Given the description of an element on the screen output the (x, y) to click on. 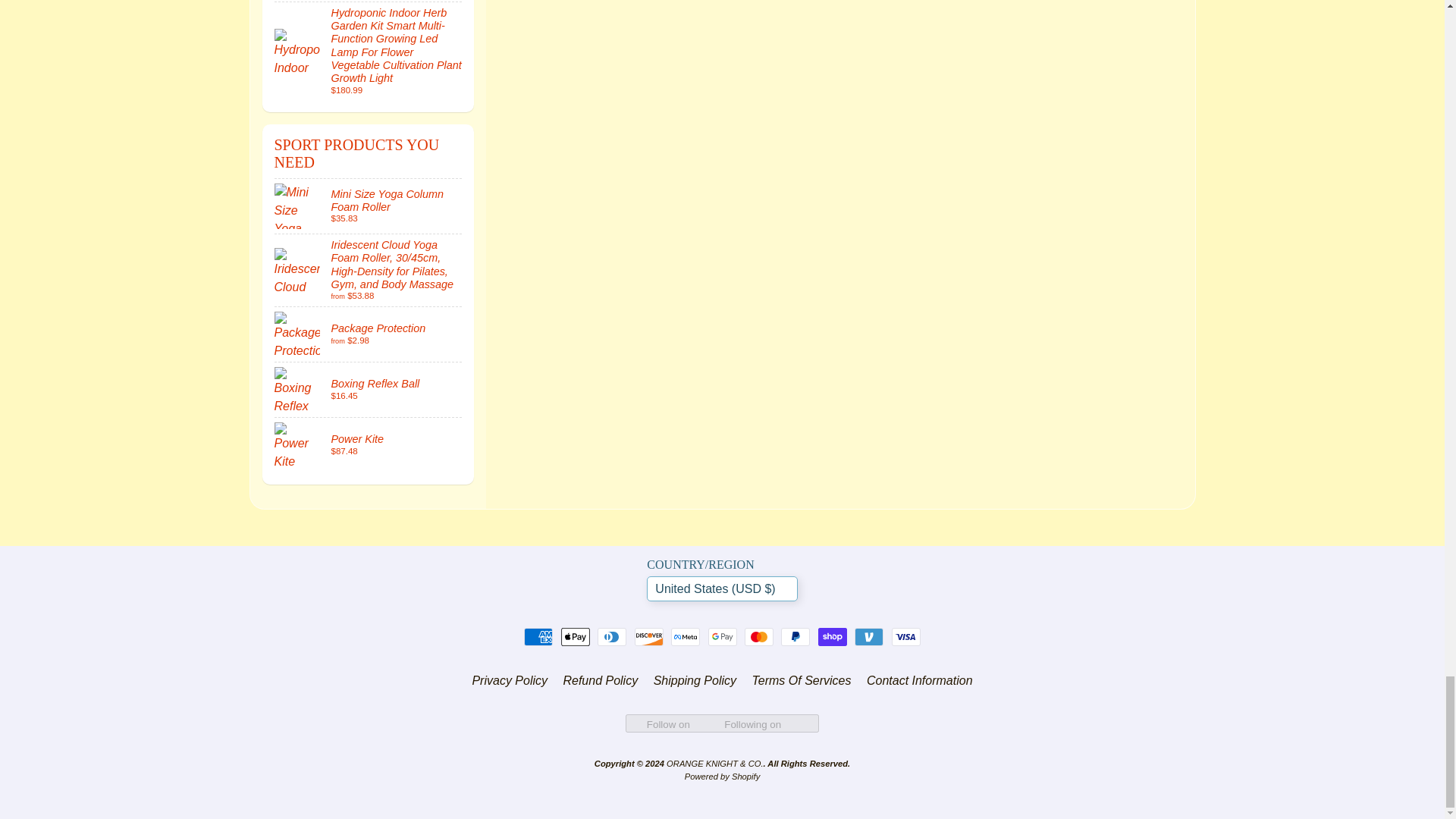
American Express (538, 637)
Meta Pay (685, 637)
Apple Pay (574, 637)
Google Pay (721, 637)
Shop Pay (832, 637)
Diners Club (611, 637)
Discover (648, 637)
PayPal (794, 637)
Mastercard (758, 637)
Venmo (868, 637)
